Given the description of an element on the screen output the (x, y) to click on. 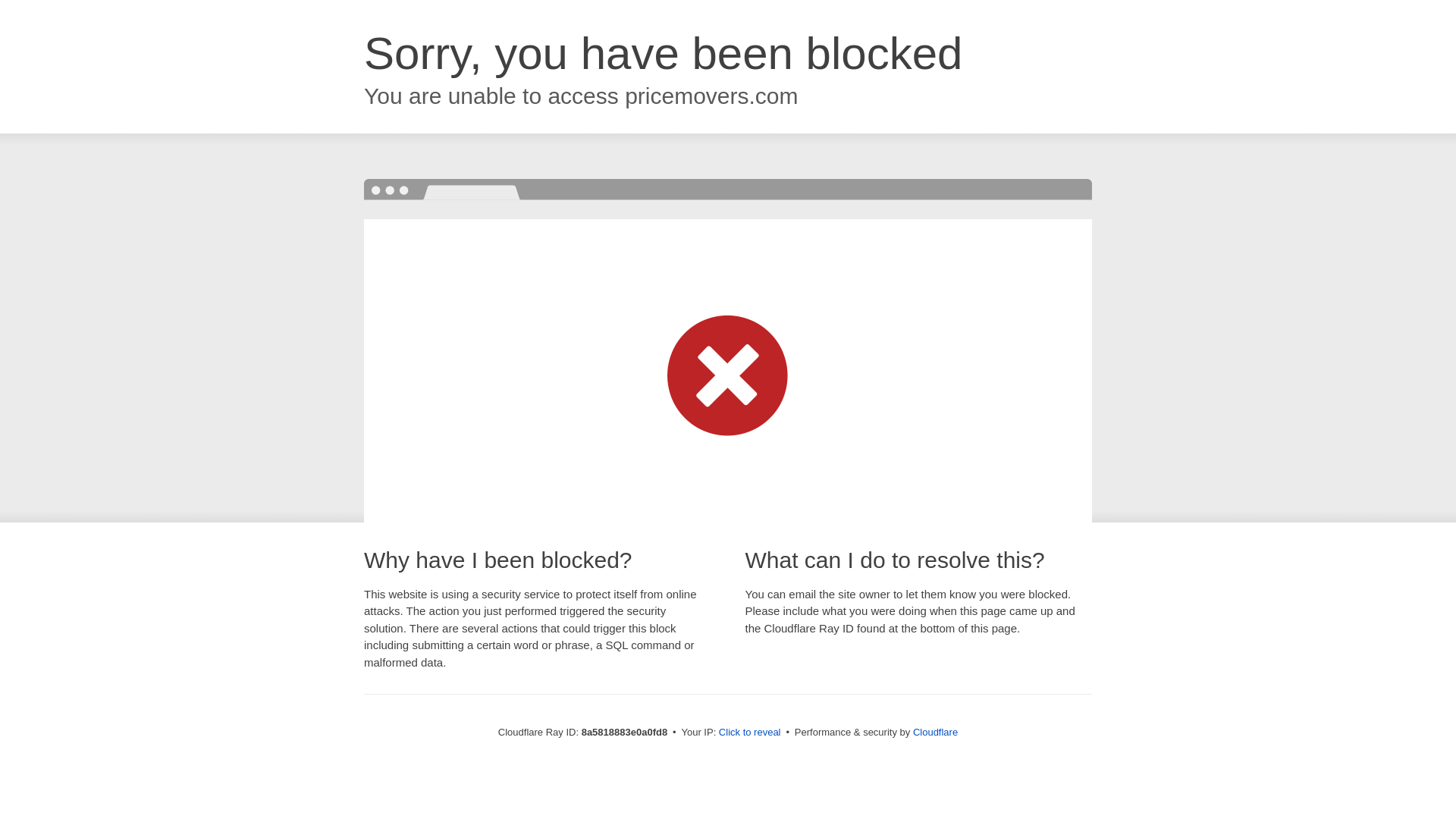
Click to reveal (749, 732)
Cloudflare (935, 731)
